Given the description of an element on the screen output the (x, y) to click on. 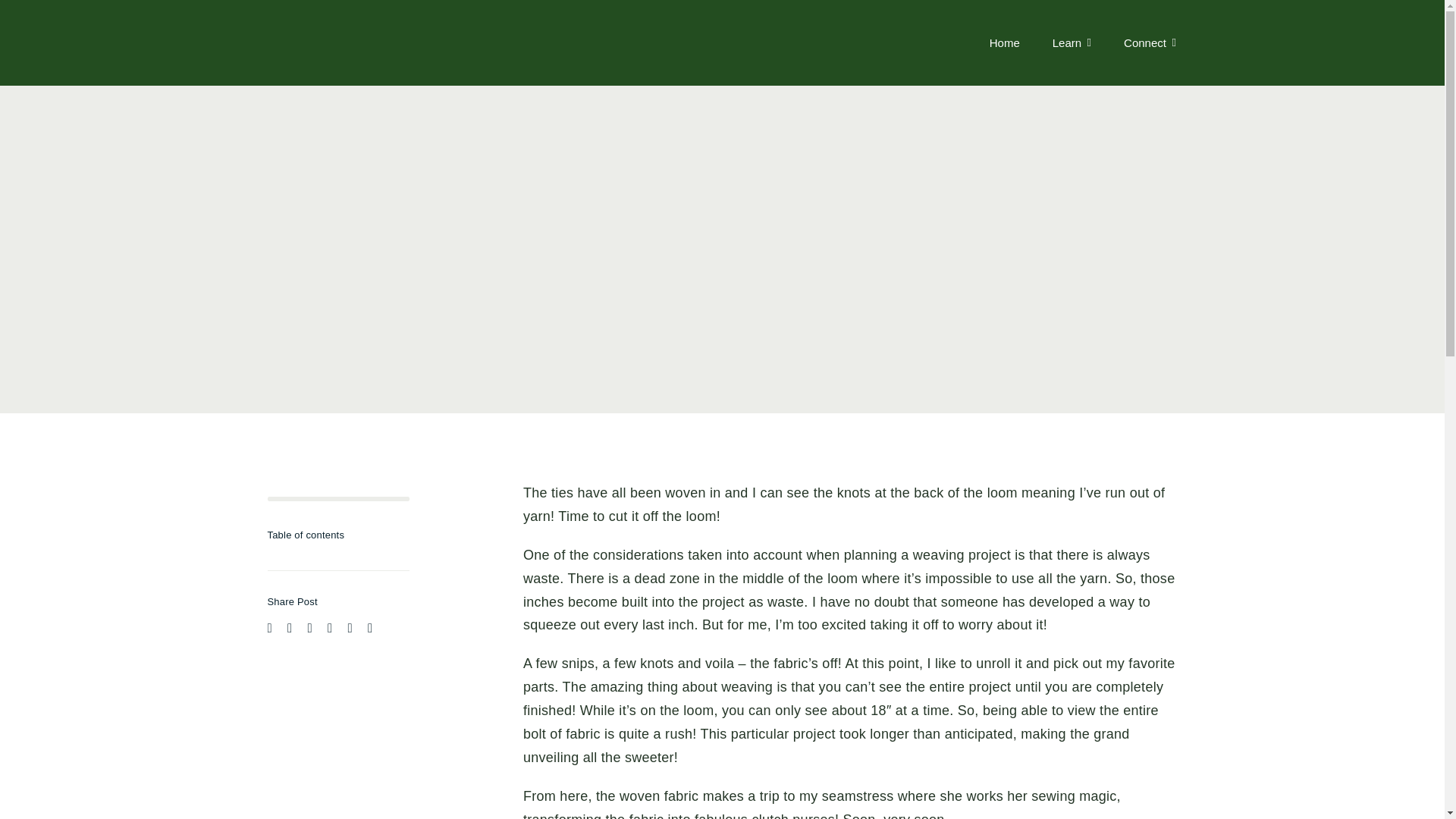
0 (337, 498)
Home (1005, 42)
Connect (1150, 42)
Learn (1071, 42)
